Given the description of an element on the screen output the (x, y) to click on. 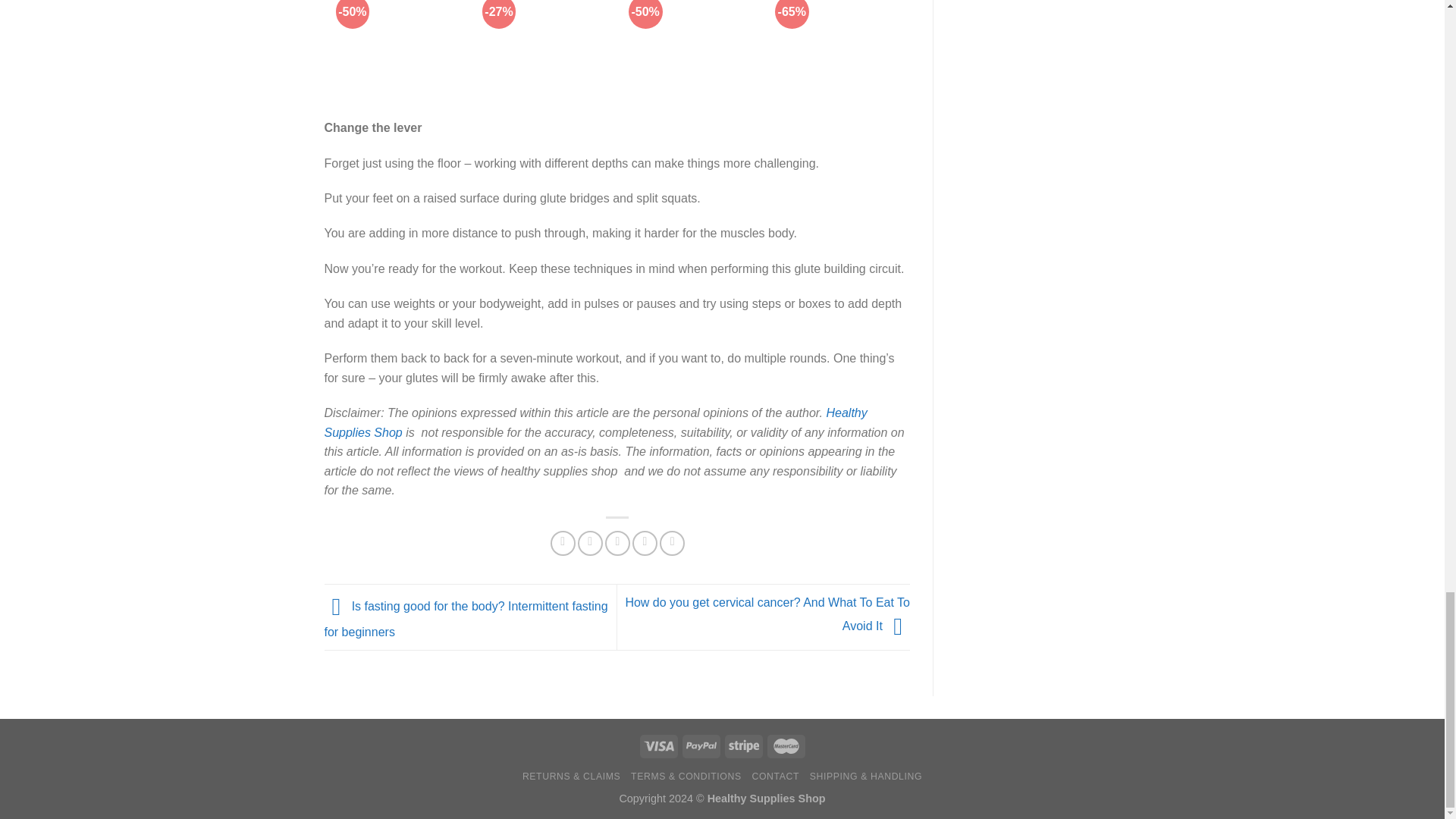
Share on Twitter (590, 543)
Share on Facebook (562, 543)
Email to a Friend (617, 543)
Pin on Pinterest (644, 543)
Share on LinkedIn (671, 543)
